Given the description of an element on the screen output the (x, y) to click on. 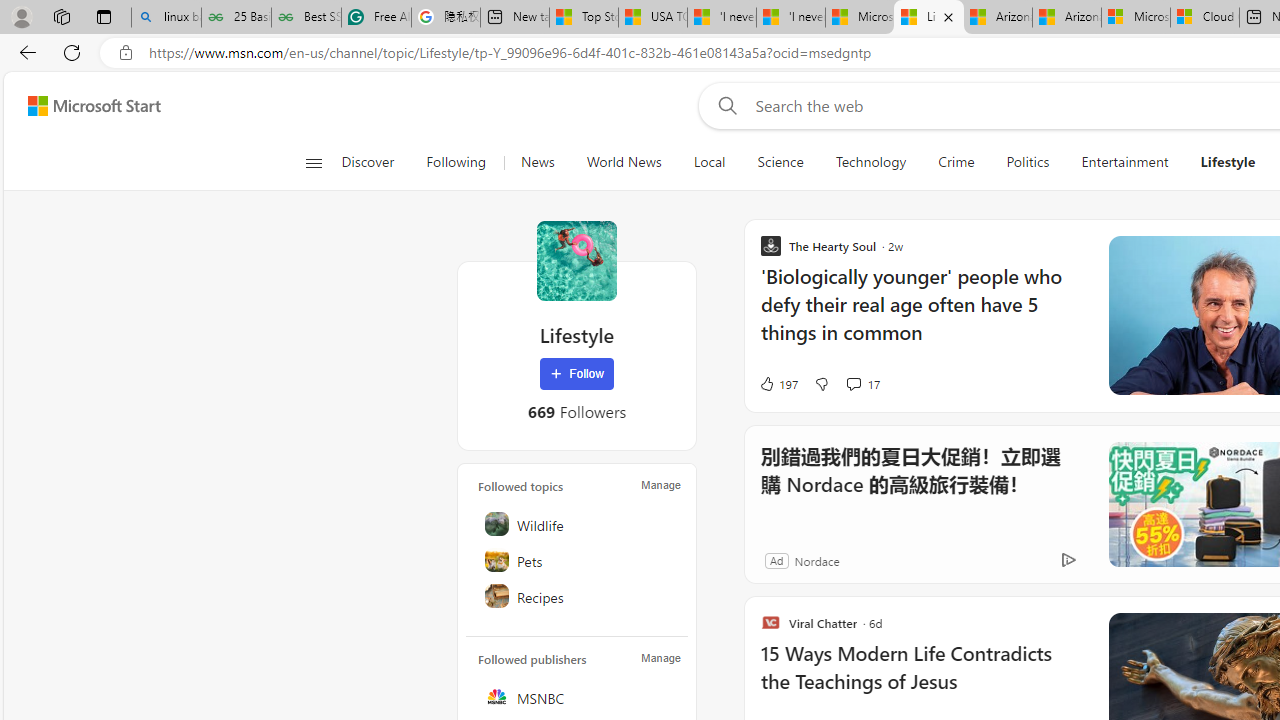
15 Ways Modern Life Contradicts the Teachings of Jesus (922, 678)
Free AI Writing Assistance for Students | Grammarly (375, 17)
Manage (660, 657)
linux basic - Search (165, 17)
USA TODAY - MSN (653, 17)
Entertainment (1124, 162)
